Given the description of an element on the screen output the (x, y) to click on. 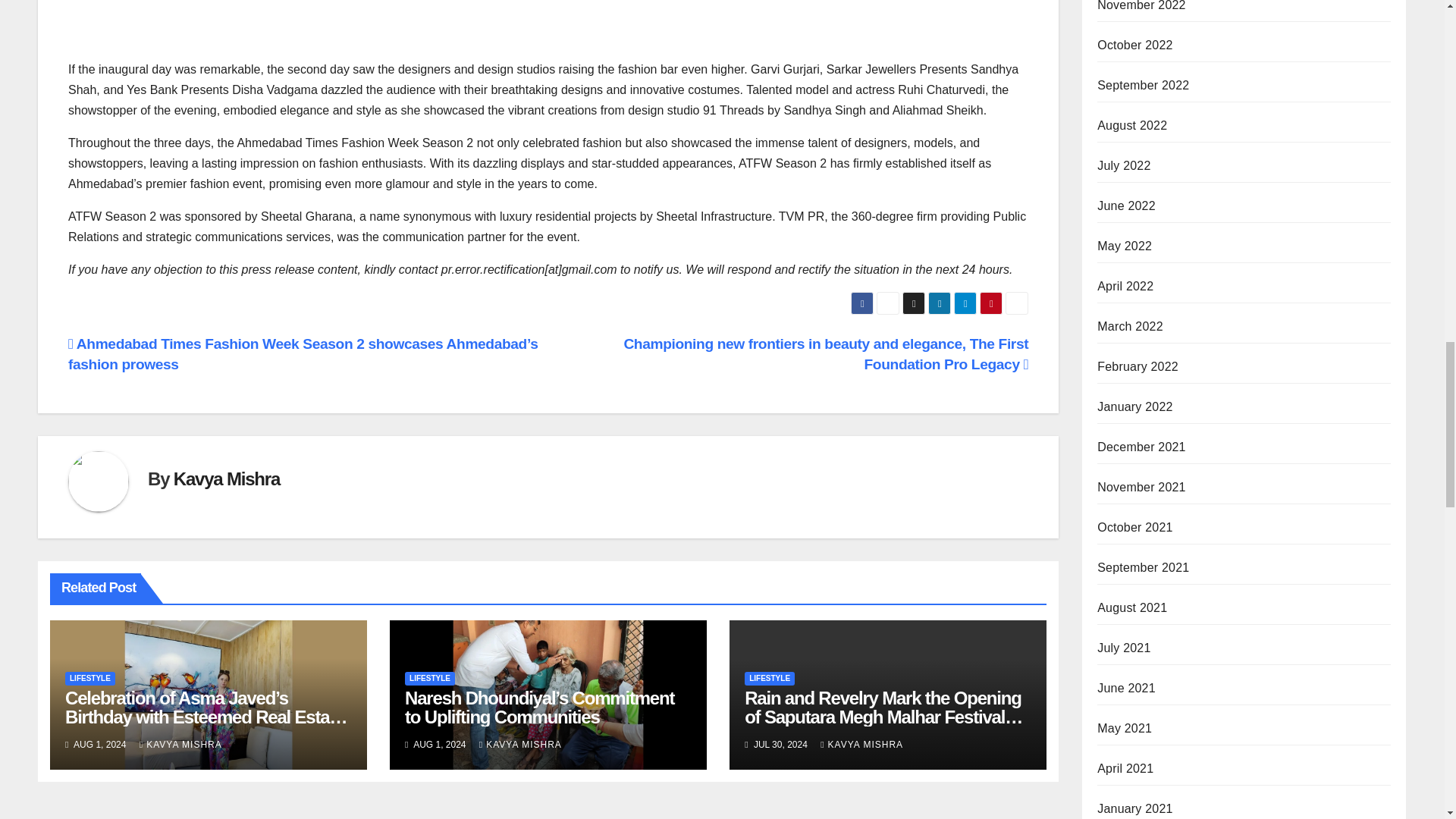
KAVYA MISHRA (861, 744)
KAVYA MISHRA (180, 744)
LIFESTYLE (90, 678)
LIFESTYLE (769, 678)
LIFESTYLE (429, 678)
Kavya Mishra (226, 478)
KAVYA MISHRA (520, 744)
